Given the description of an element on the screen output the (x, y) to click on. 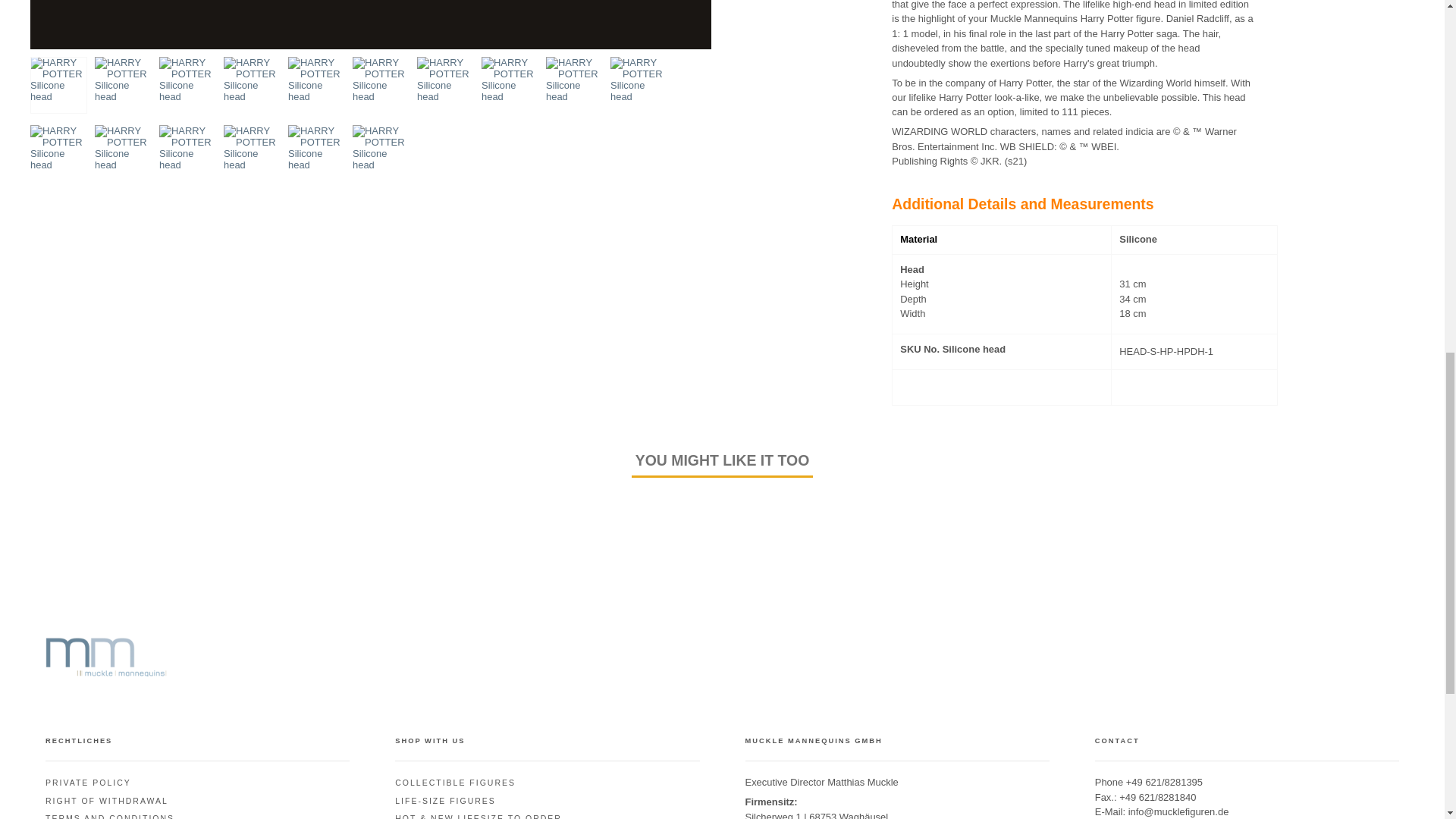
CONTACT (1178, 811)
